Given the description of an element on the screen output the (x, y) to click on. 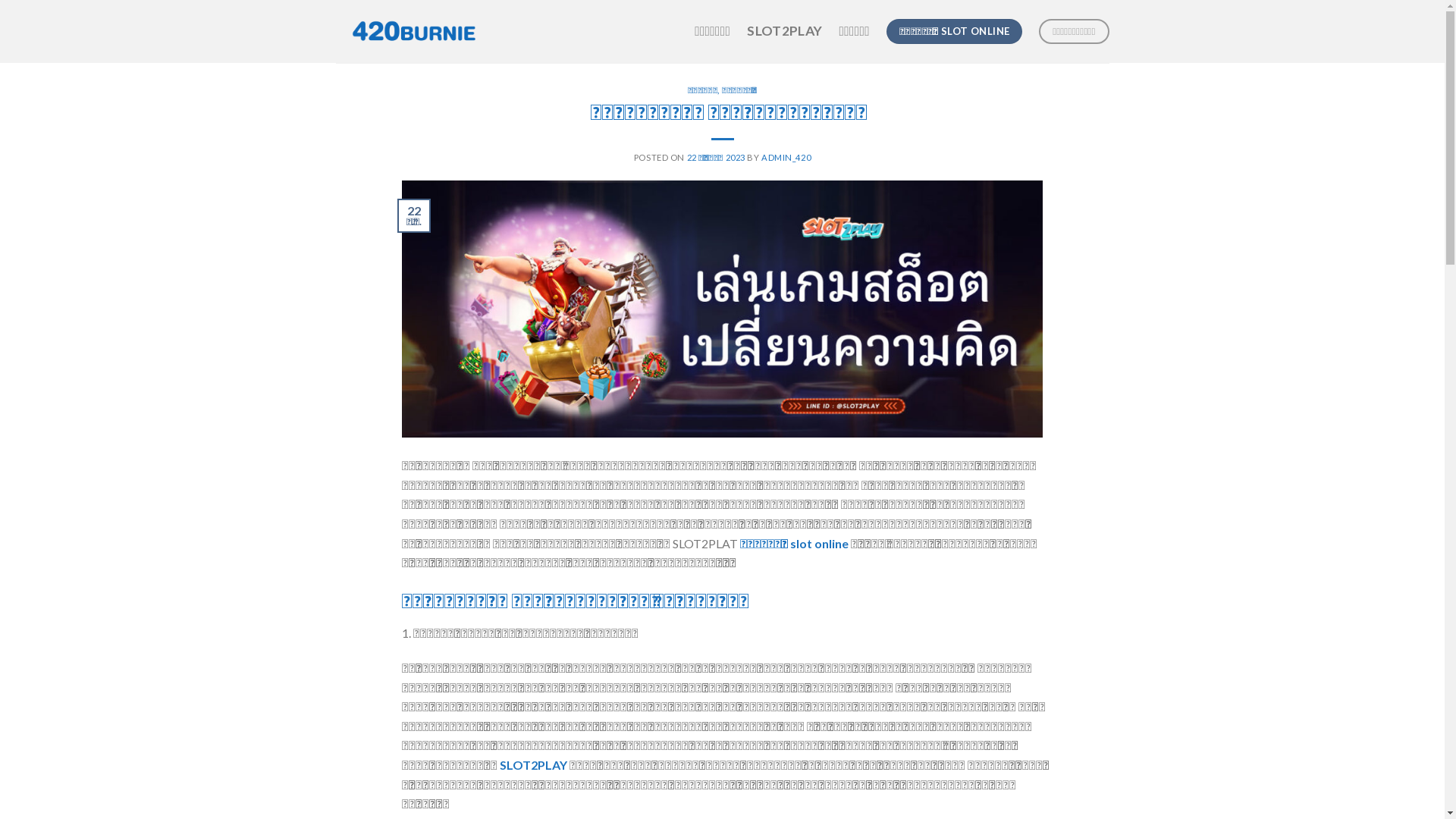
ADMIN_420 Element type: text (785, 157)
SLOT2PLAY Element type: text (533, 764)
420burnie.com Element type: hover (430, 31)
SLOT2PLAY Element type: text (784, 30)
